Given the description of an element on the screen output the (x, y) to click on. 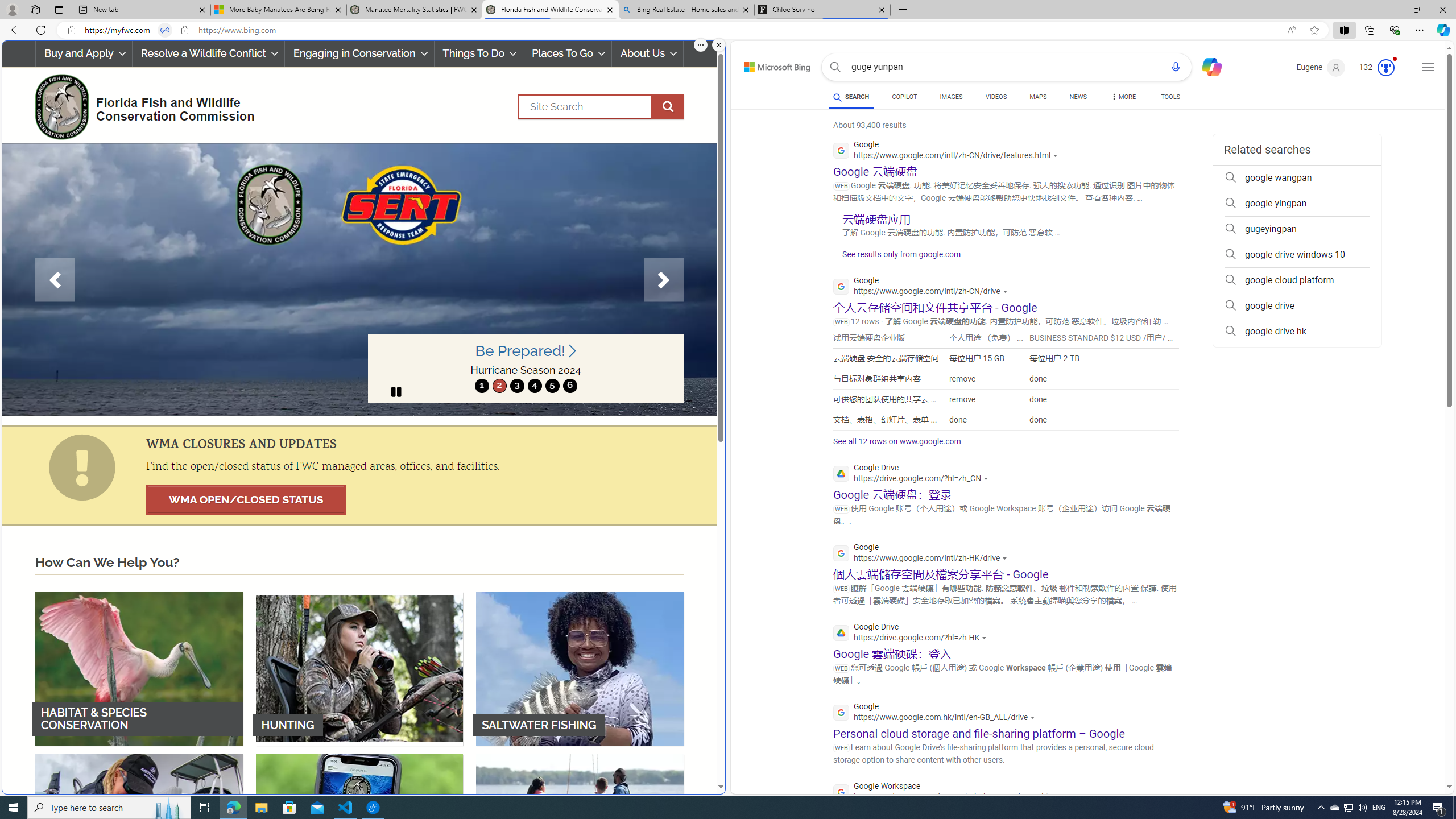
NEWS (1078, 98)
slider pause button (396, 391)
VIDEOS (995, 96)
Things To Do (477, 53)
Settings and quick links (1428, 67)
IMAGES (950, 98)
MORE (1123, 98)
Resolve a Wildlife Conflict (207, 53)
carousel image link (359, 279)
Class: outer-circle-animation (1385, 67)
